Given the description of an element on the screen output the (x, y) to click on. 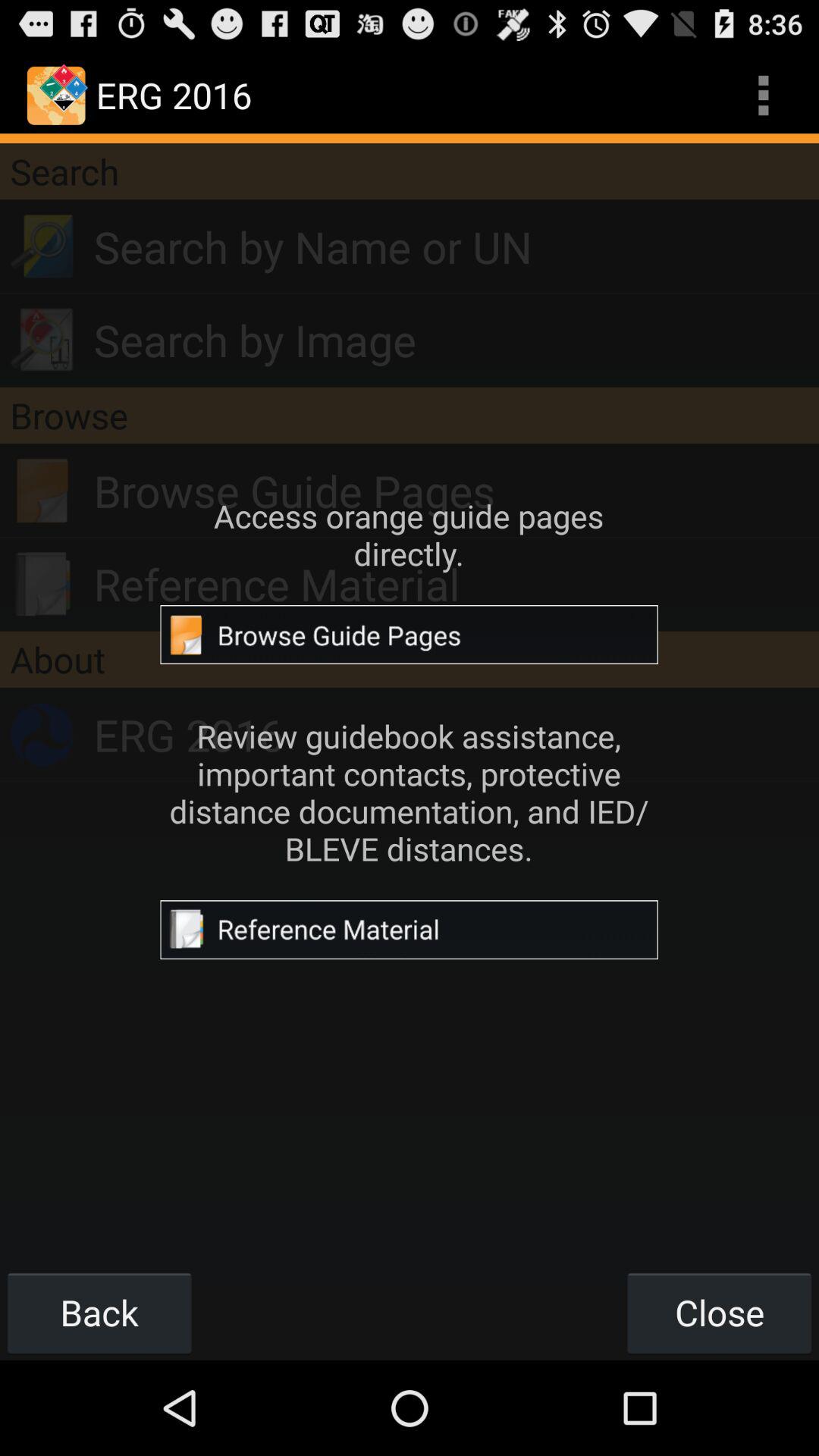
press the app above the search icon (763, 95)
